Given the description of an element on the screen output the (x, y) to click on. 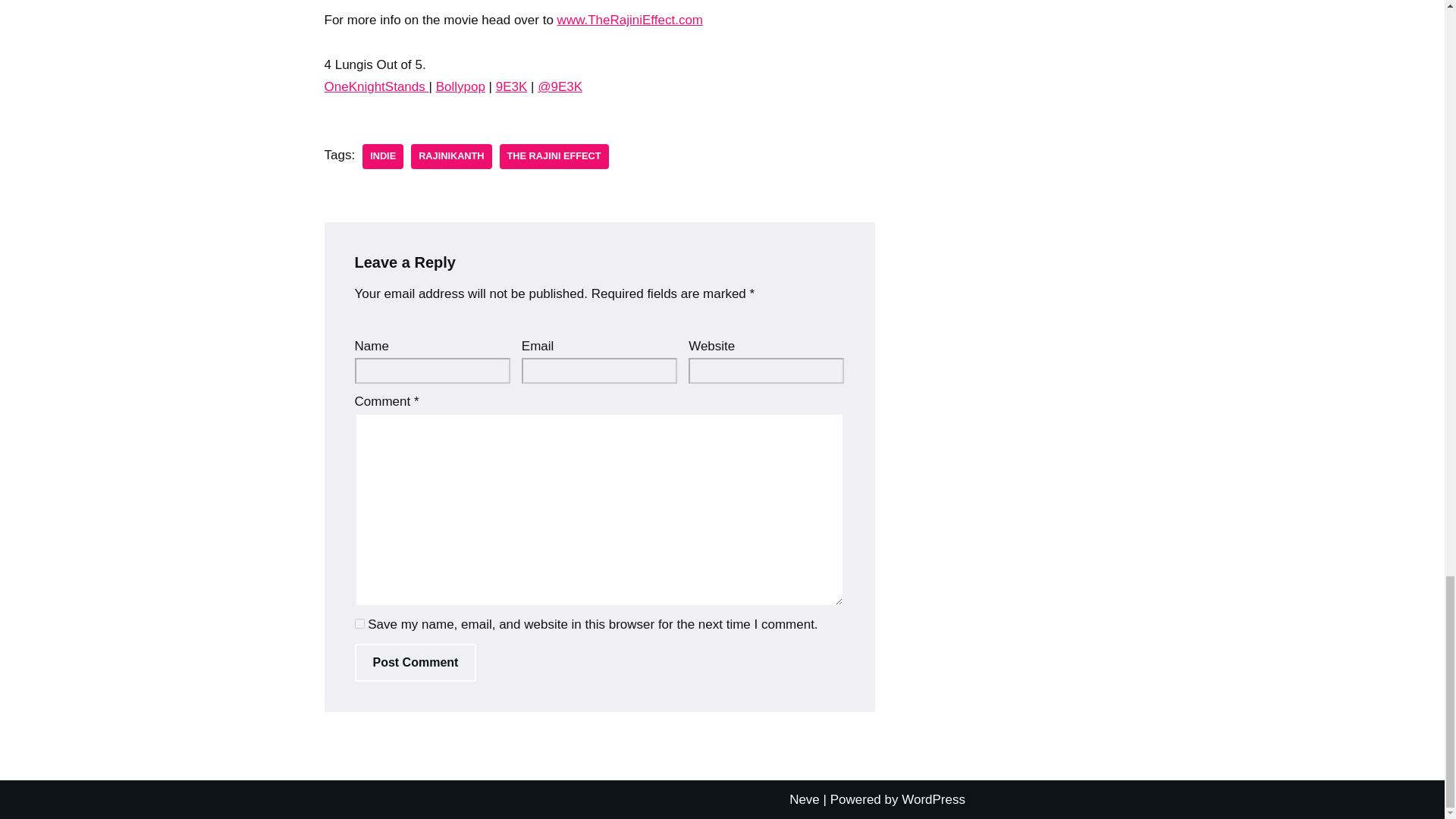
THE RAJINI EFFECT (553, 156)
OneKnightStands  (376, 86)
www.TheRajiniEffect.com (630, 20)
9E3K (511, 86)
yes (360, 623)
The Rajini Effect (553, 156)
Indie (382, 156)
Post Comment (416, 662)
RAJINIKANTH (451, 156)
Bollypop (459, 86)
Rajinikanth (451, 156)
Post Comment (416, 662)
INDIE (382, 156)
